Given the description of an element on the screen output the (x, y) to click on. 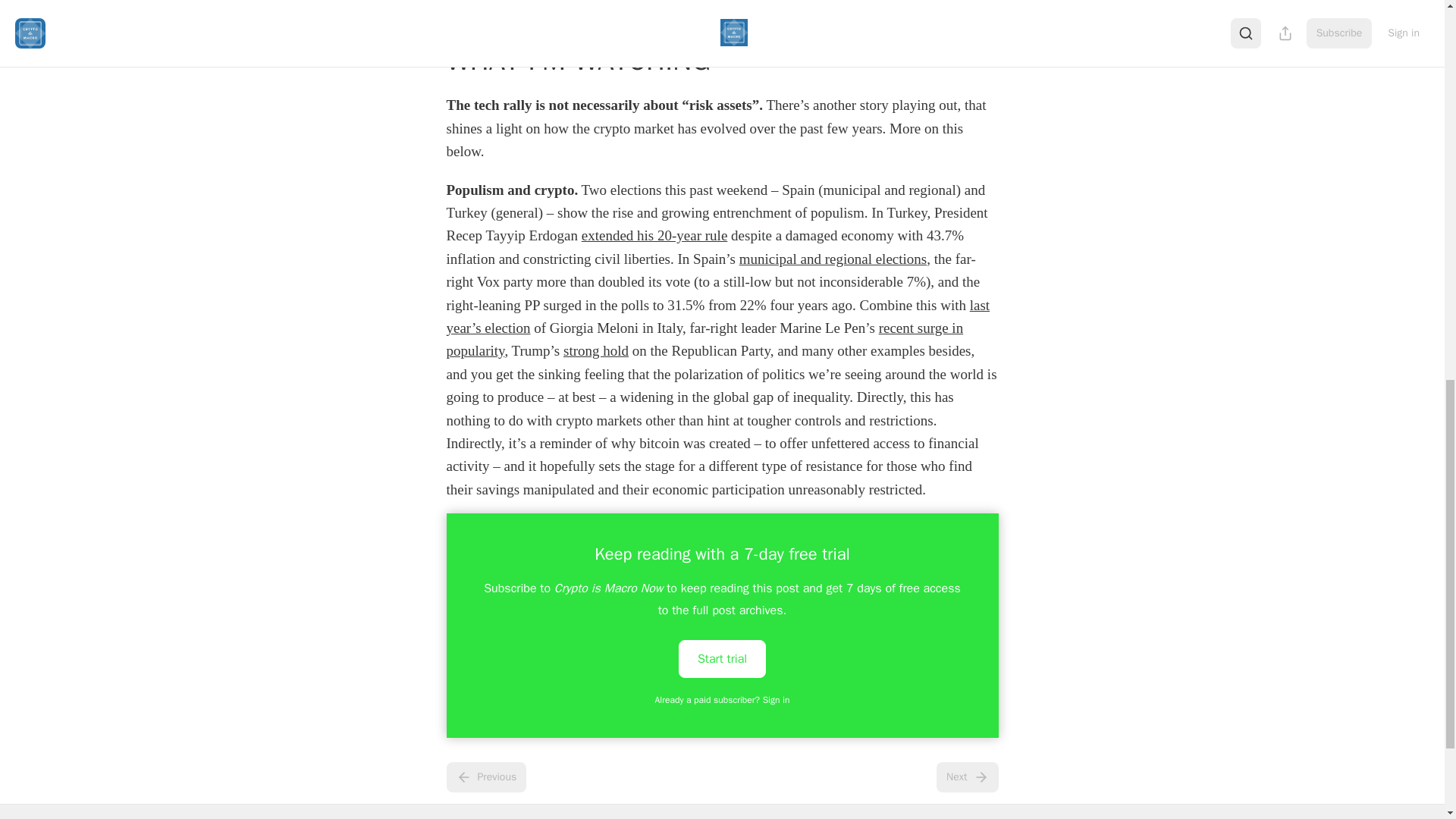
extended his 20-year rule (654, 235)
Previous (485, 777)
Subscribe (827, 7)
strong hold (595, 350)
Start trial (721, 658)
recent surge in popularity (703, 339)
Start trial (721, 658)
municipal and regional elections (832, 258)
Already a paid subscriber? Sign in (722, 699)
Next (966, 777)
